Given the description of an element on the screen output the (x, y) to click on. 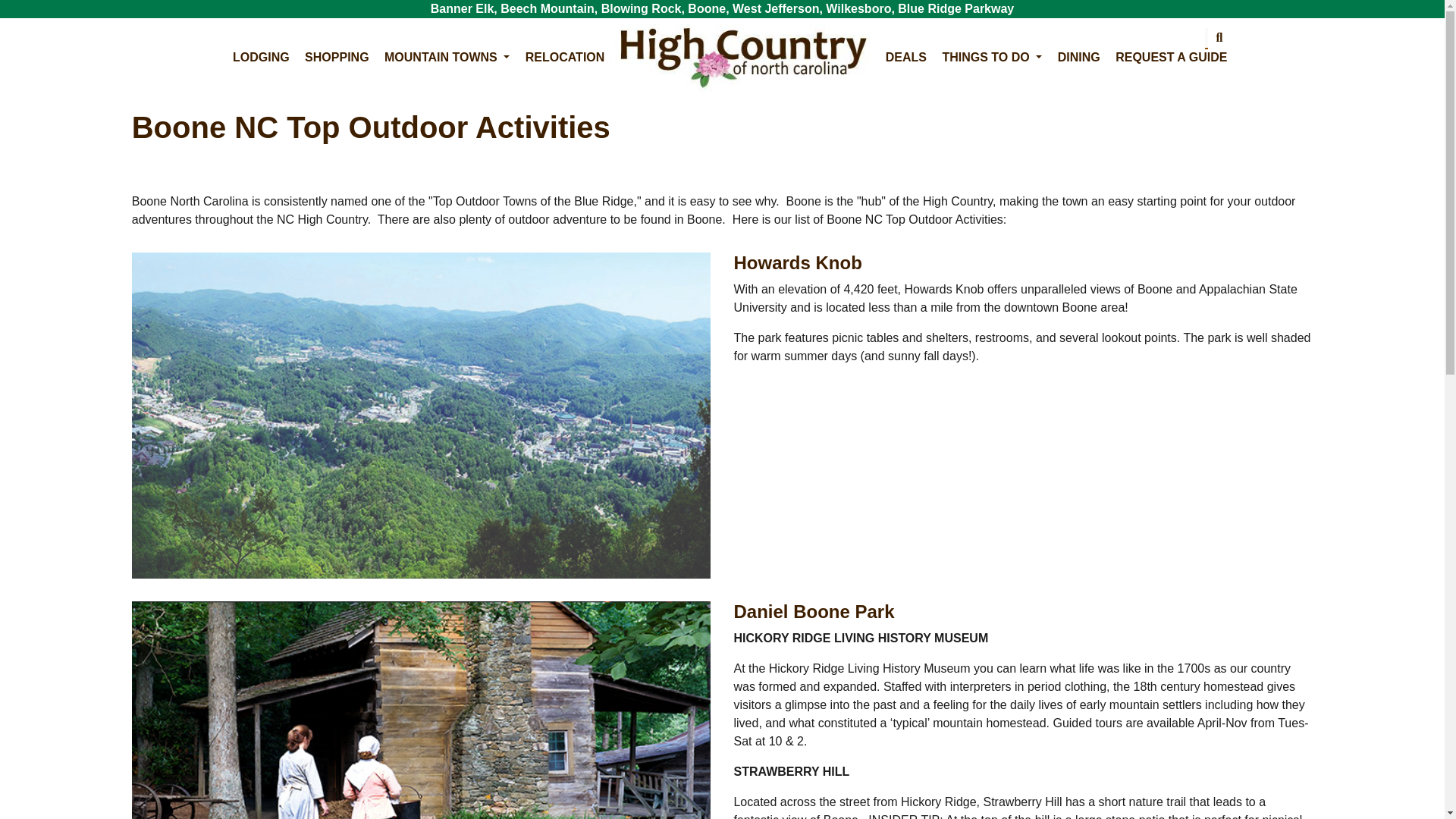
MOUNTAIN TOWNS (446, 57)
DEALS (906, 57)
LODGING (261, 57)
DINING (1078, 57)
RELOCATION (565, 57)
SHOPPING (336, 57)
THINGS TO DO (992, 57)
REQUEST A GUIDE (1171, 57)
